Given the description of an element on the screen output the (x, y) to click on. 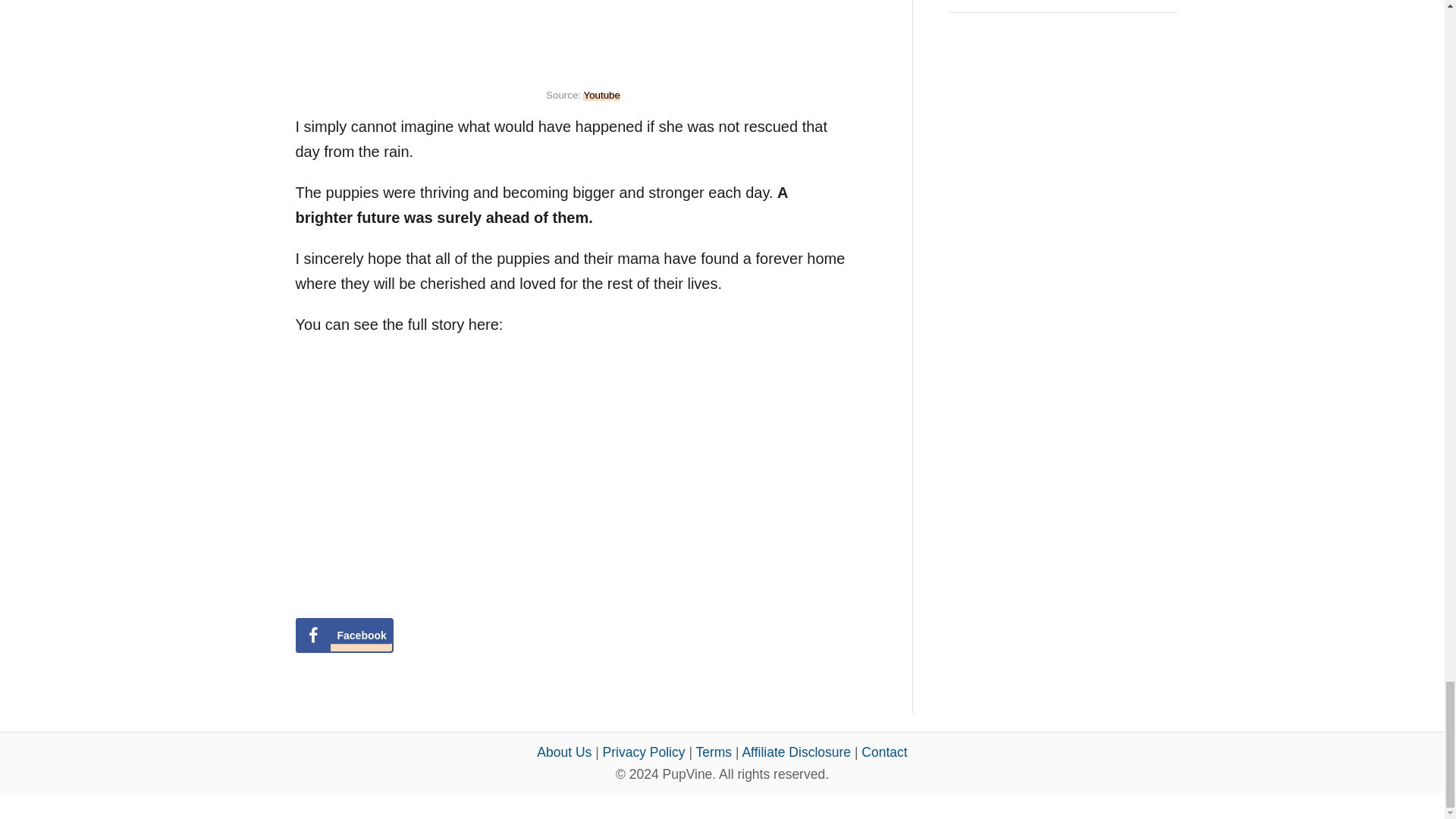
Youtube (601, 94)
About Us (564, 752)
Facebook (344, 635)
Share on Facebook (344, 635)
Terms (713, 752)
Affiliate Disclosure (795, 752)
Privacy Policy (643, 752)
